Given the description of an element on the screen output the (x, y) to click on. 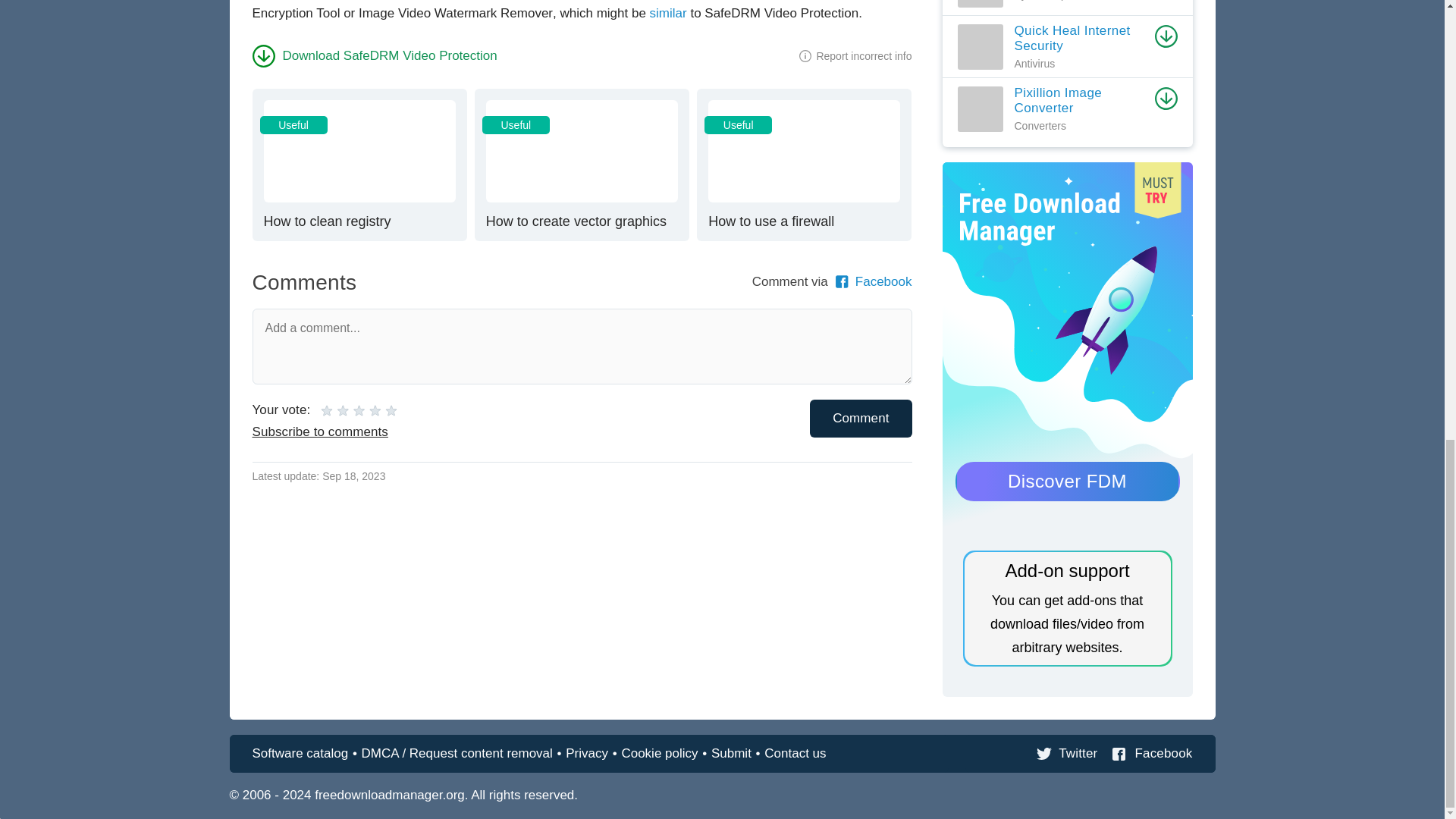
similar (668, 12)
Comment (860, 417)
1 (326, 409)
Comment (804, 163)
2 (860, 417)
Download SafeDRM Video Protection (358, 163)
4 (334, 409)
5 (373, 55)
3 (581, 163)
